Given the description of an element on the screen output the (x, y) to click on. 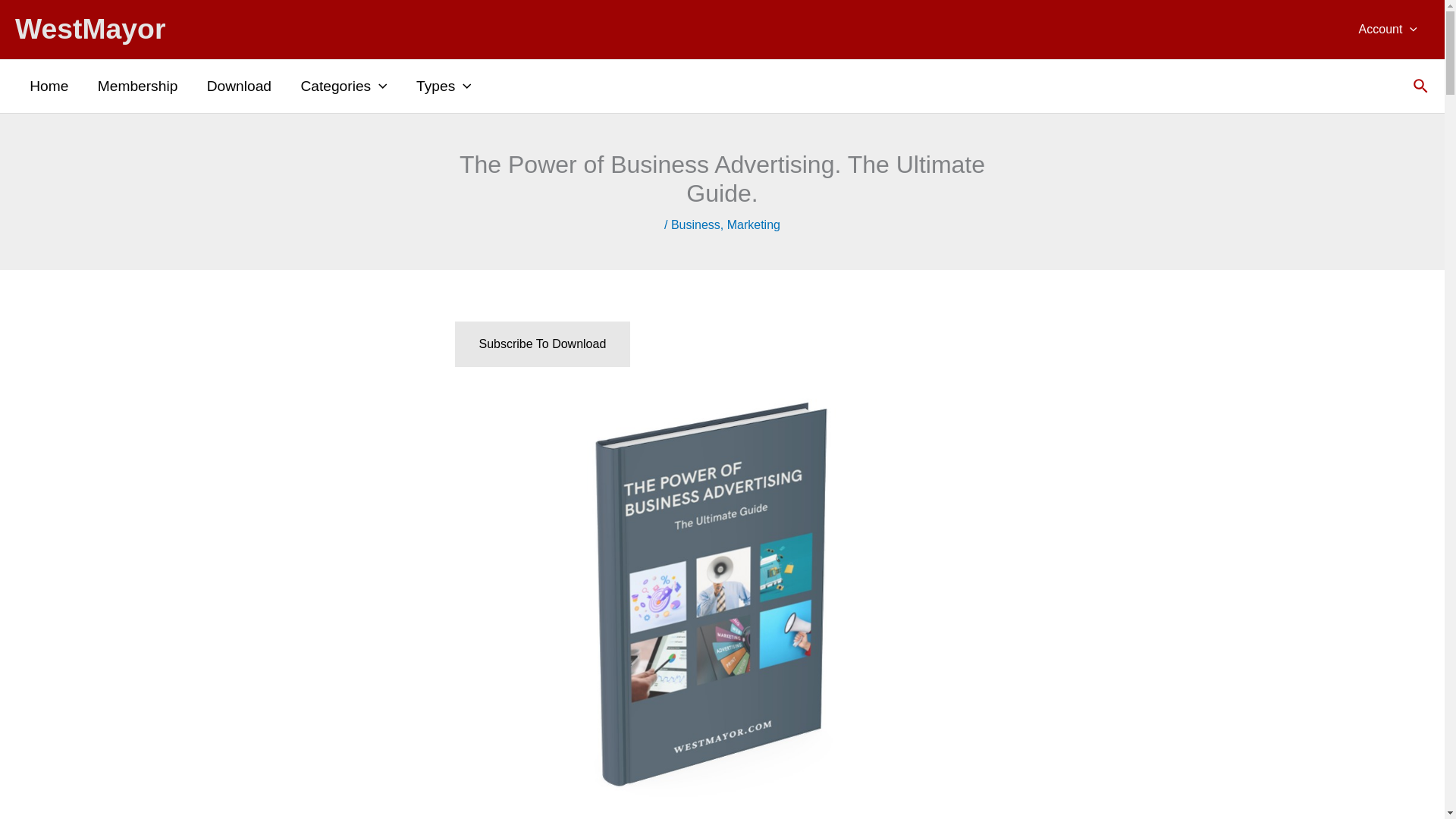
Home (48, 86)
Account (1387, 29)
Download (239, 86)
Types (443, 86)
Membership (137, 86)
Categories (343, 86)
WestMayor (89, 29)
